Given the description of an element on the screen output the (x, y) to click on. 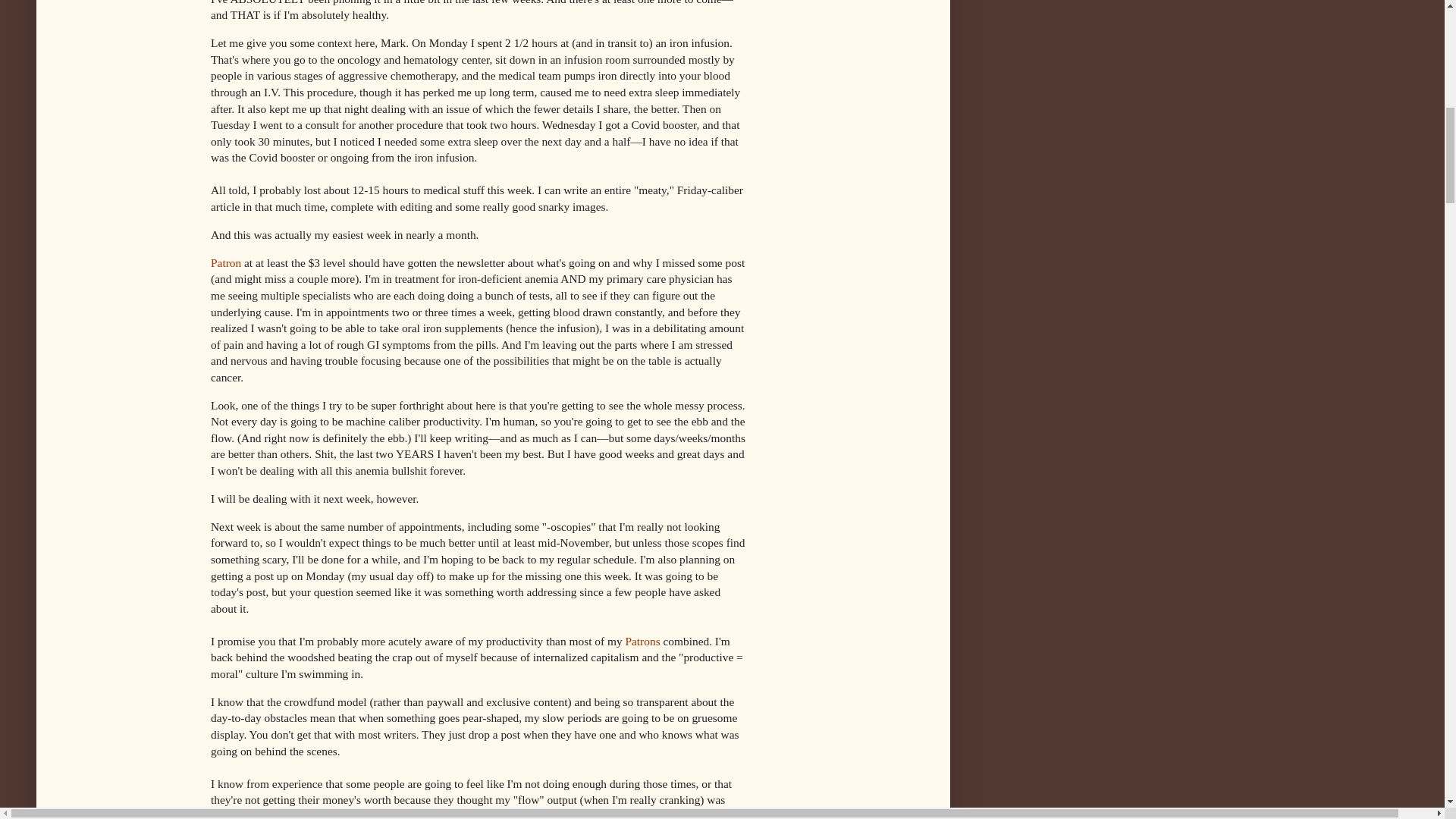
Patrons (641, 640)
Patron (226, 262)
